Given the description of an element on the screen output the (x, y) to click on. 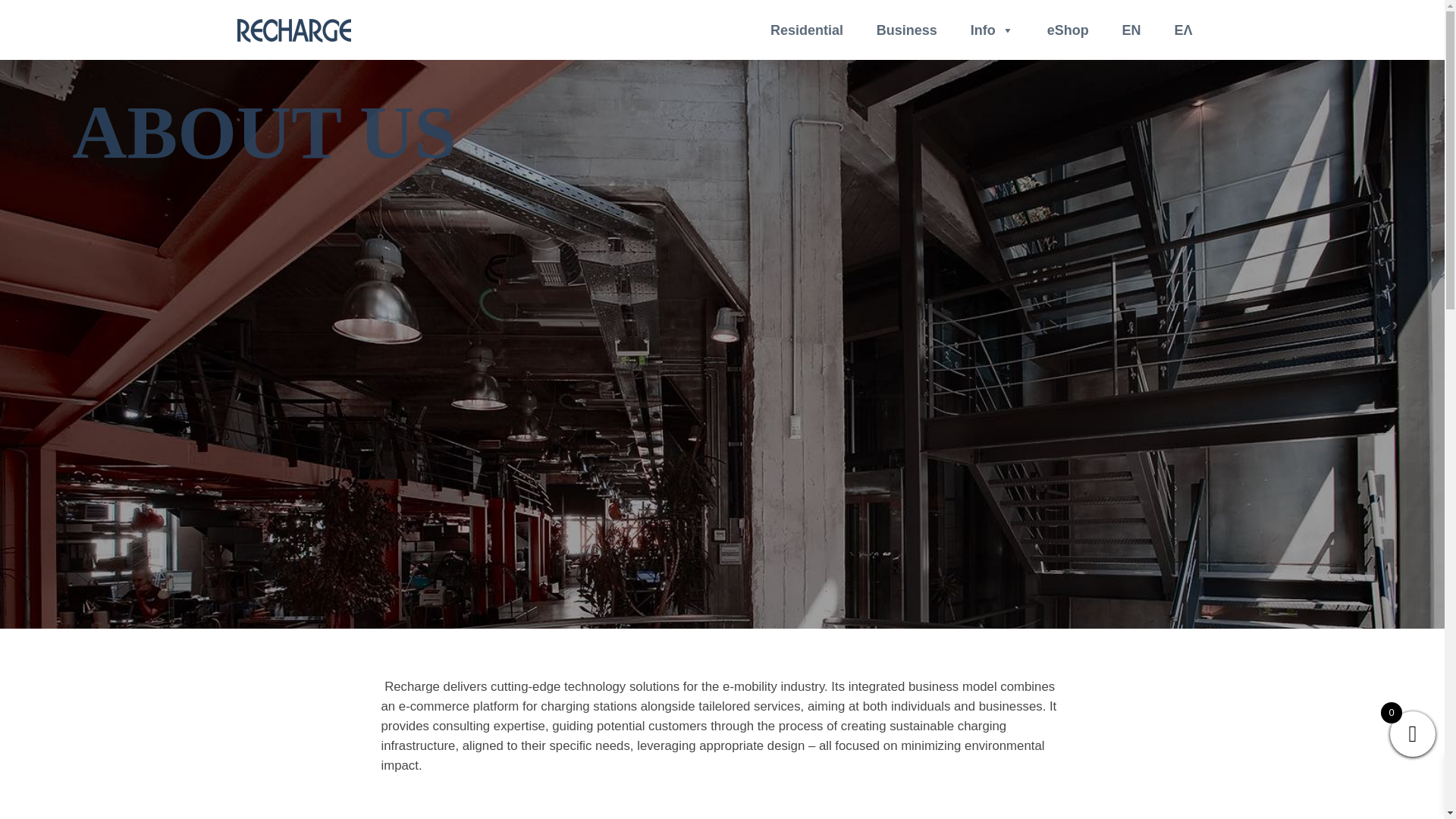
Residential (807, 30)
Info (992, 30)
EN (1131, 30)
Business (906, 30)
eShop (1067, 30)
